Given the description of an element on the screen output the (x, y) to click on. 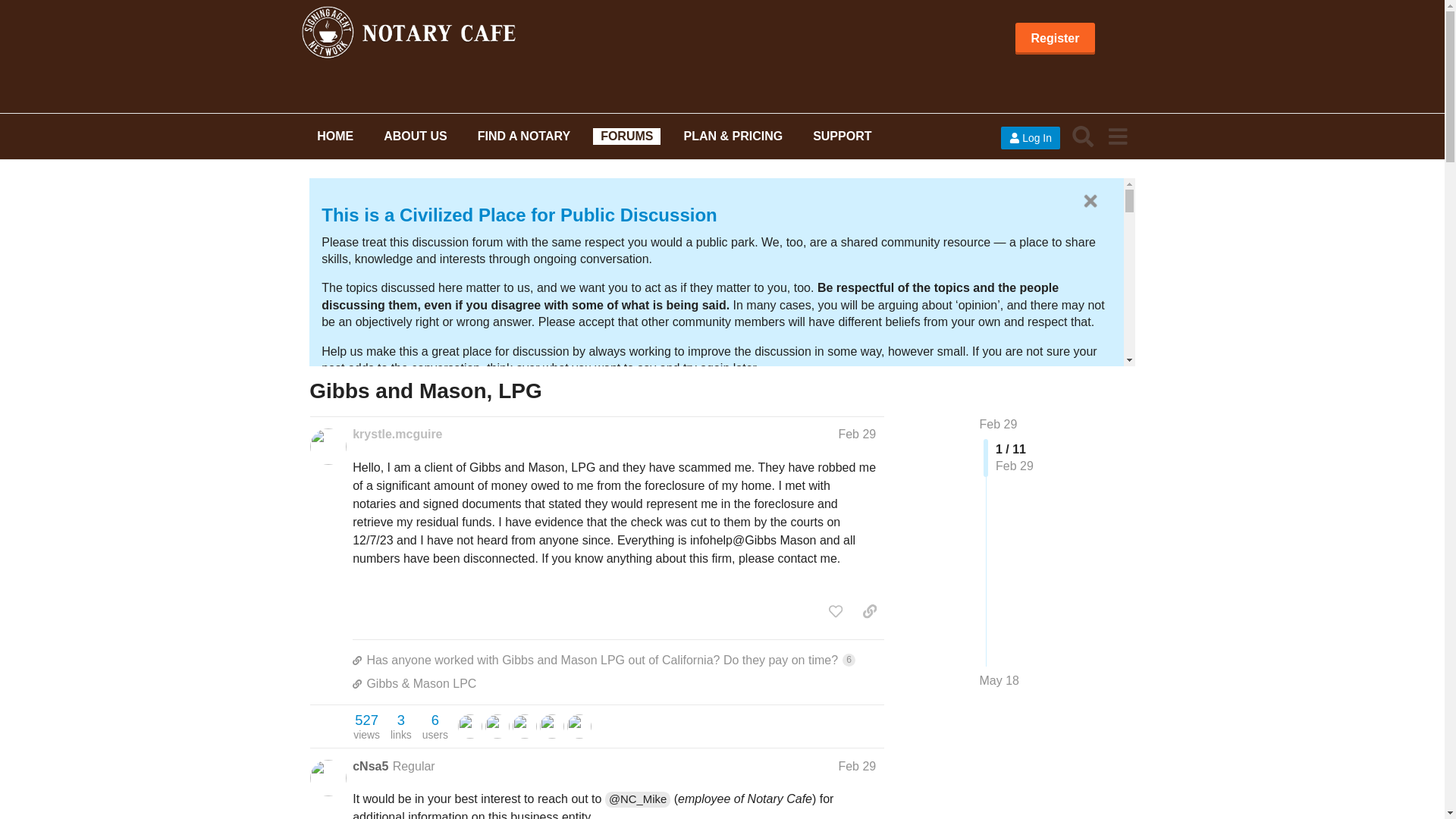
Register (1054, 38)
Search (1082, 135)
Register (1054, 38)
HOME (334, 135)
FIND A NOTARY (524, 135)
SUPPORT (842, 135)
FORUMS (626, 135)
This is a Civilized Place for Public Discussion (519, 214)
ABOUT US (414, 135)
Log In (1030, 137)
menu (1117, 135)
Guidelines (367, 401)
